Given the description of an element on the screen output the (x, y) to click on. 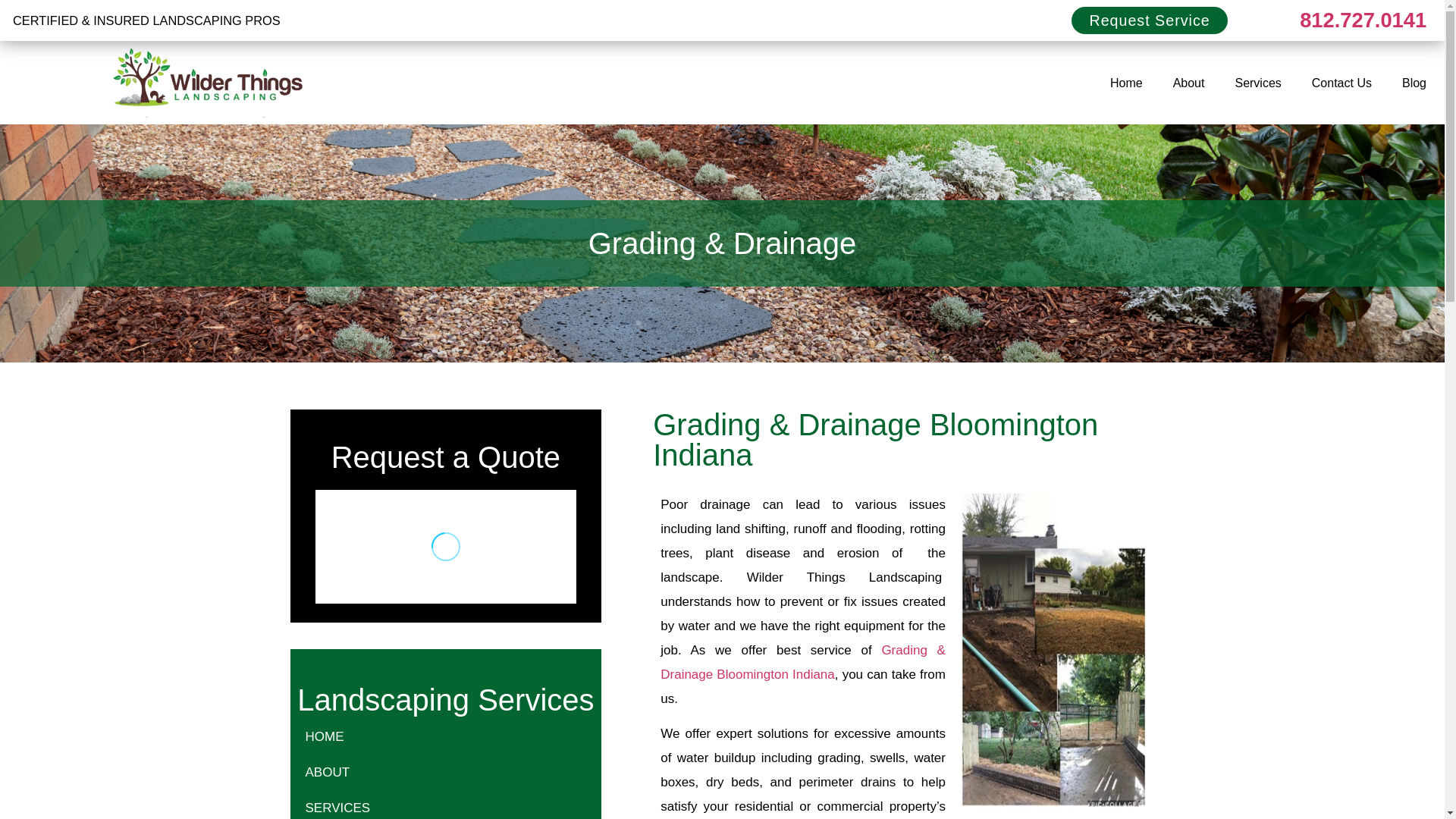
Contact Us (1342, 82)
Request Service (1149, 20)
812.727.0141 (1363, 19)
Blog (1414, 82)
About (1188, 82)
Services (1257, 82)
Home (1125, 82)
